Given the description of an element on the screen output the (x, y) to click on. 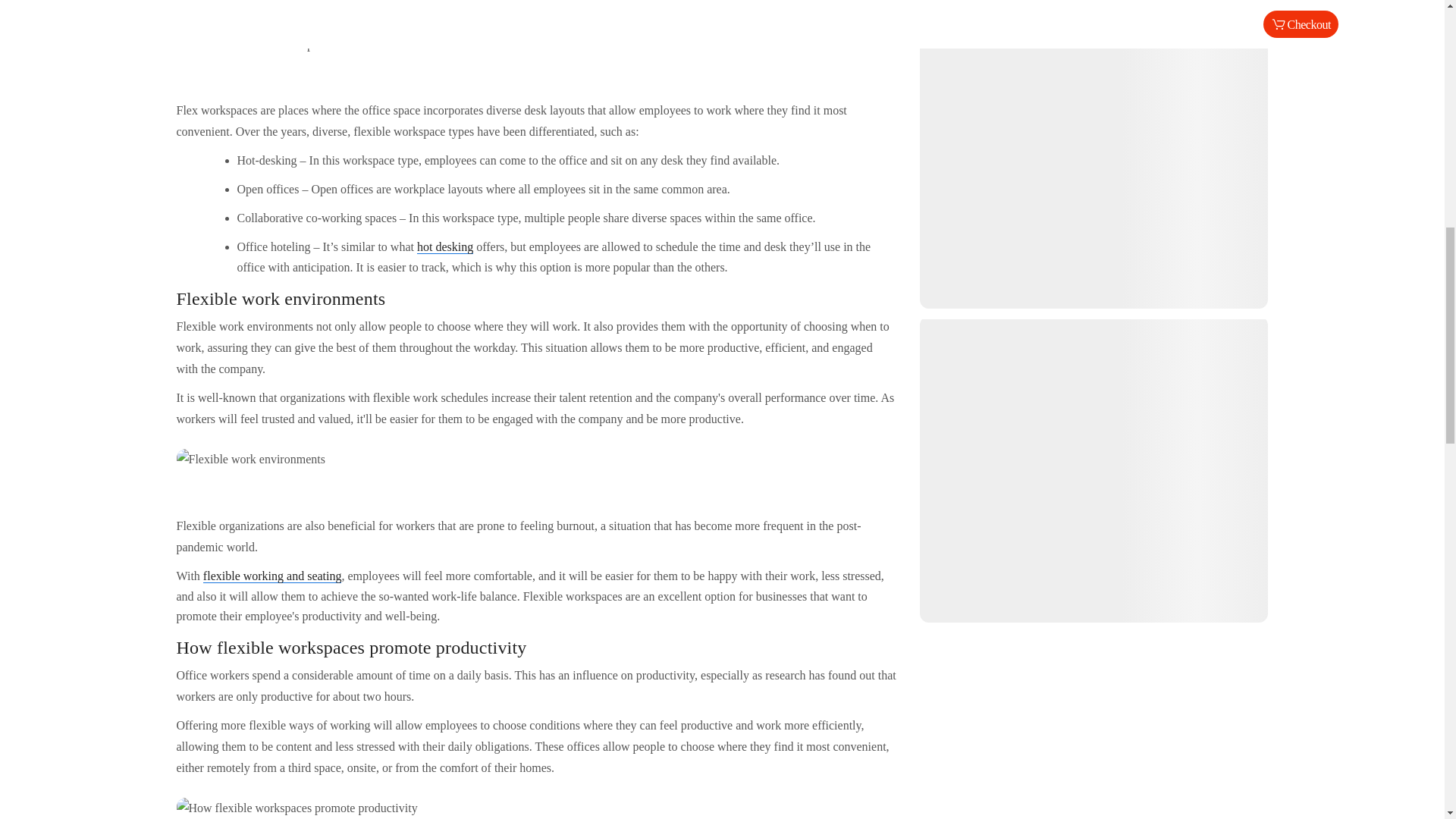
hot desking (444, 246)
flexible working and seating (272, 576)
